Given the description of an element on the screen output the (x, y) to click on. 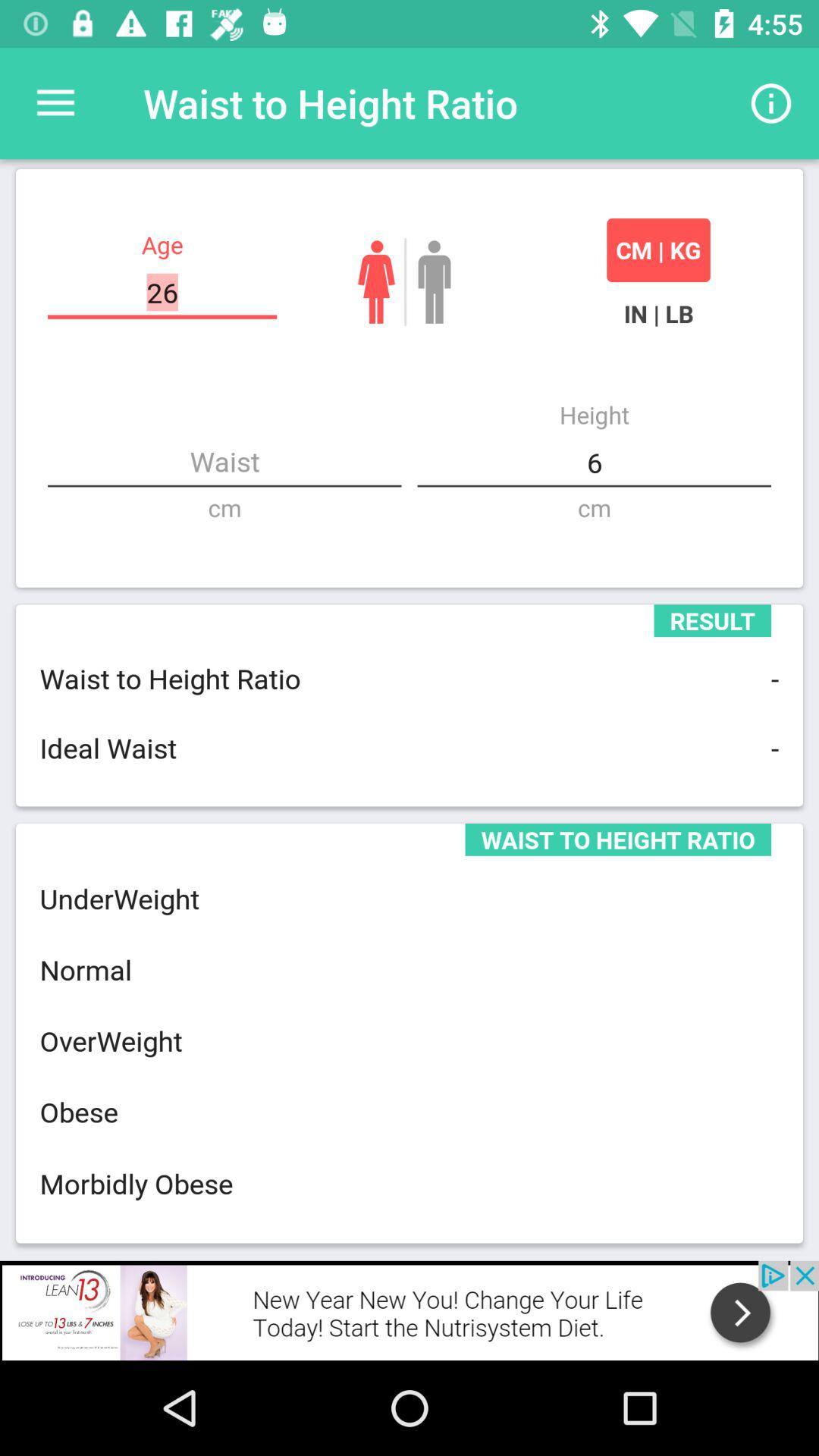
advertisement link (409, 1310)
